Given the description of an element on the screen output the (x, y) to click on. 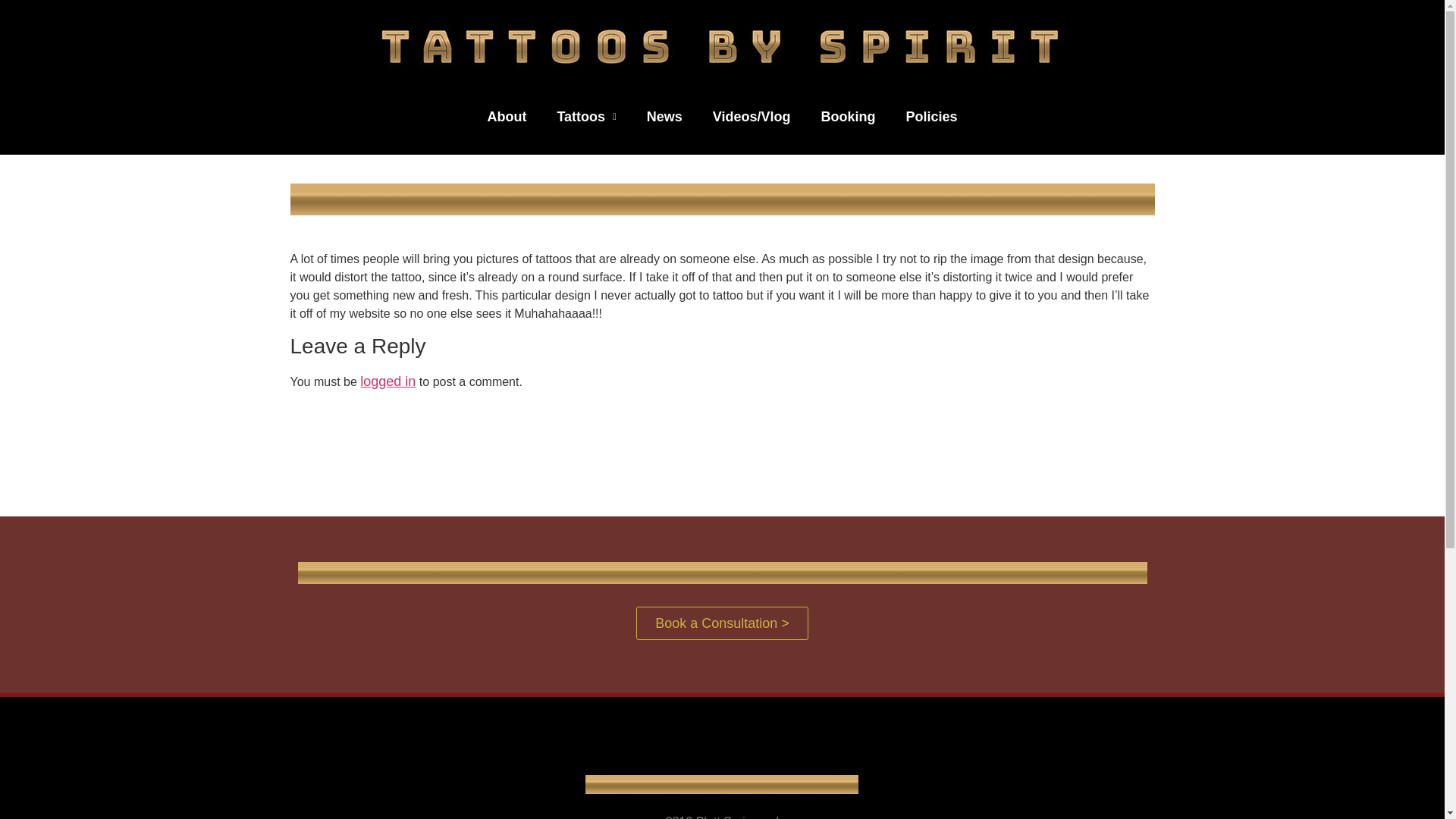
About (506, 116)
logged in (386, 381)
Policies (930, 116)
Tattoos (585, 116)
3319 Platt Springs rd West Columbia, SC 29170 (433, 776)
Booking (847, 116)
